Given the description of an element on the screen output the (x, y) to click on. 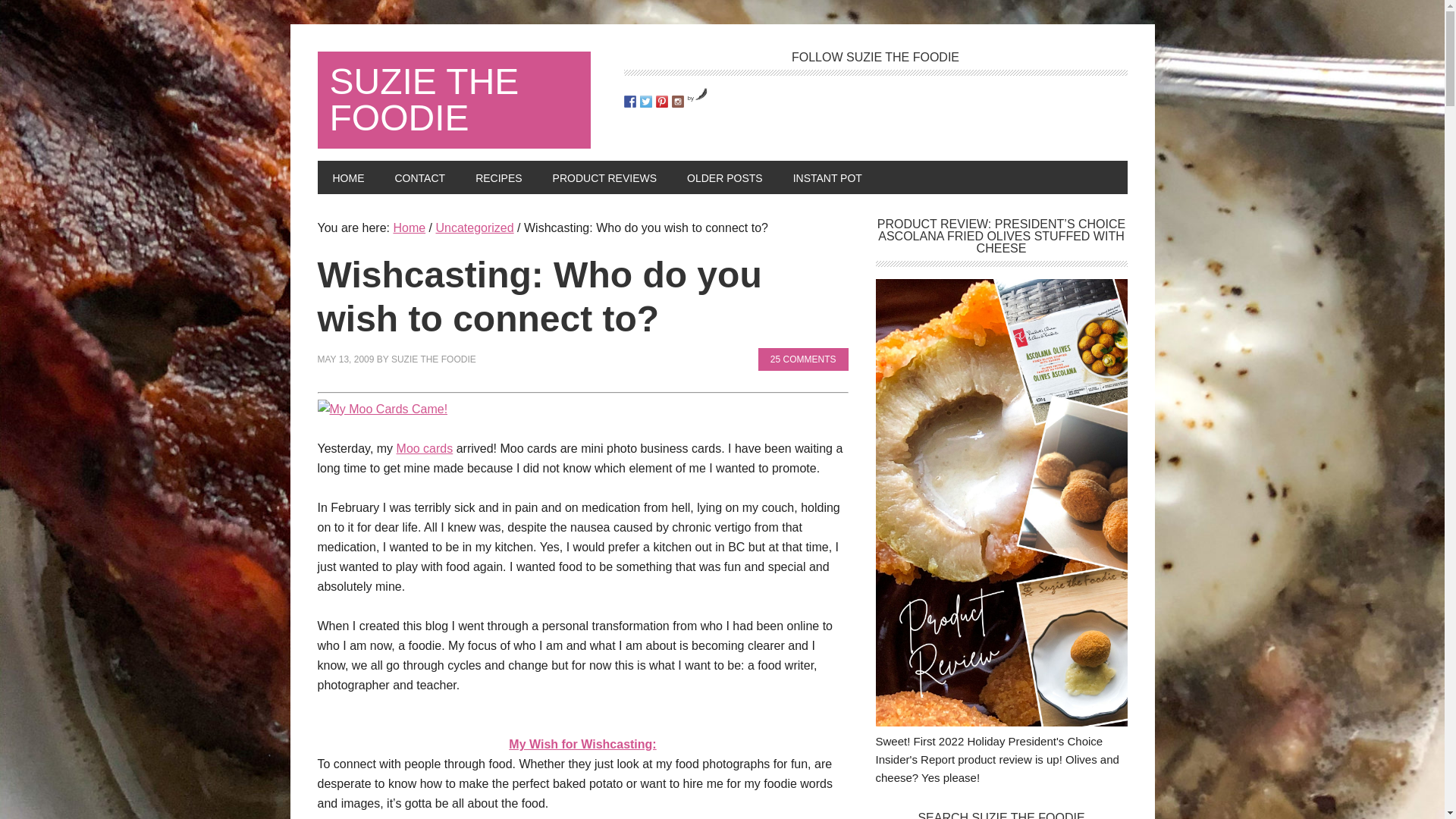
RECIPES (498, 177)
HOME (347, 177)
25 COMMENTS (803, 359)
CONTACT (419, 177)
Moo cards (424, 448)
Follow me on Facebook (628, 101)
INSTANT POT (827, 177)
OLDER POSTS (724, 177)
Home (409, 227)
SUZIE THE FOODIE (433, 358)
Uncategorized (474, 227)
Follow me on Pinterest (660, 101)
SUZIE THE FOODIE (453, 99)
My Moo Cards Came! by suziethefoodie, on Flickr (381, 408)
by (697, 98)
